Given the description of an element on the screen output the (x, y) to click on. 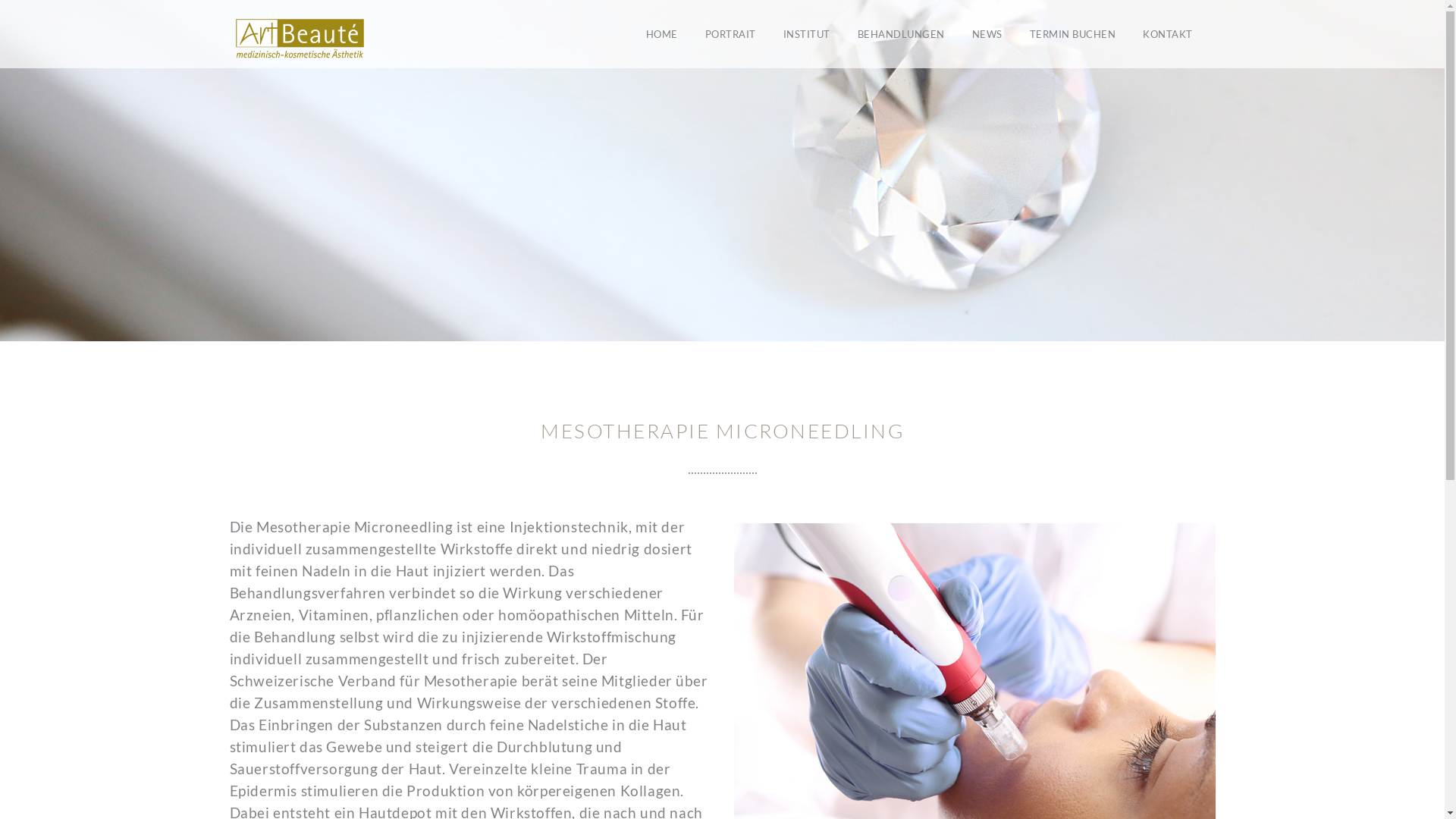
PORTRAIT Element type: text (730, 34)
TERMIN BUCHEN Element type: text (1072, 34)
HOME Element type: text (661, 34)
NEWS Element type: text (987, 34)
INSTITUT Element type: text (805, 34)
KONTAKT Element type: text (1167, 34)
BEHANDLUNGEN Element type: text (900, 34)
